Given the description of an element on the screen output the (x, y) to click on. 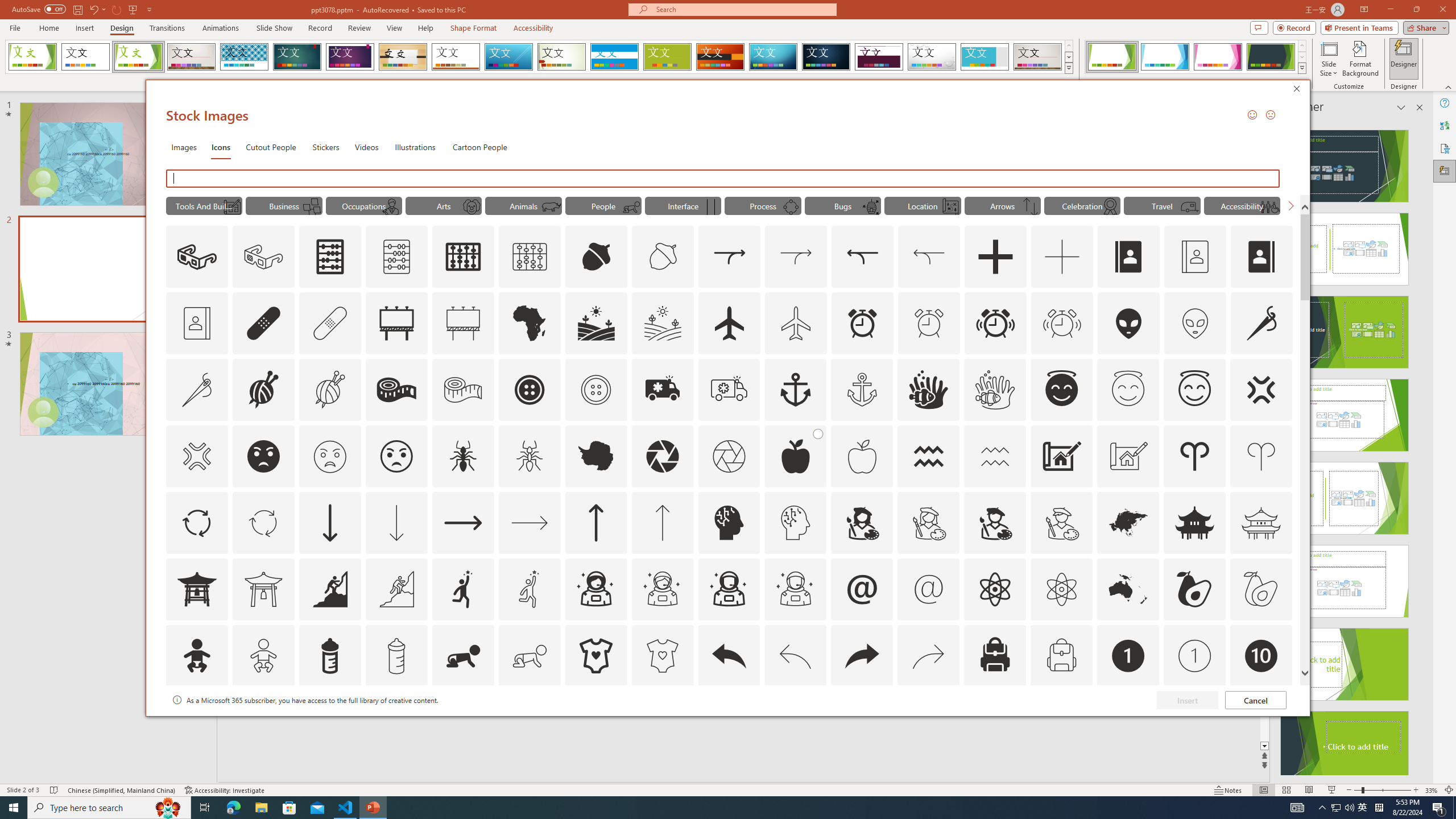
Send a Smile (1251, 114)
Stickers (326, 146)
AutomationID: Icons_ArtistMale_M (1061, 522)
AutomationID: Icons_Acquisition_RTL (863, 256)
AutomationID: Icons_AlienFace (1128, 323)
outline (1194, 389)
